Given the description of an element on the screen output the (x, y) to click on. 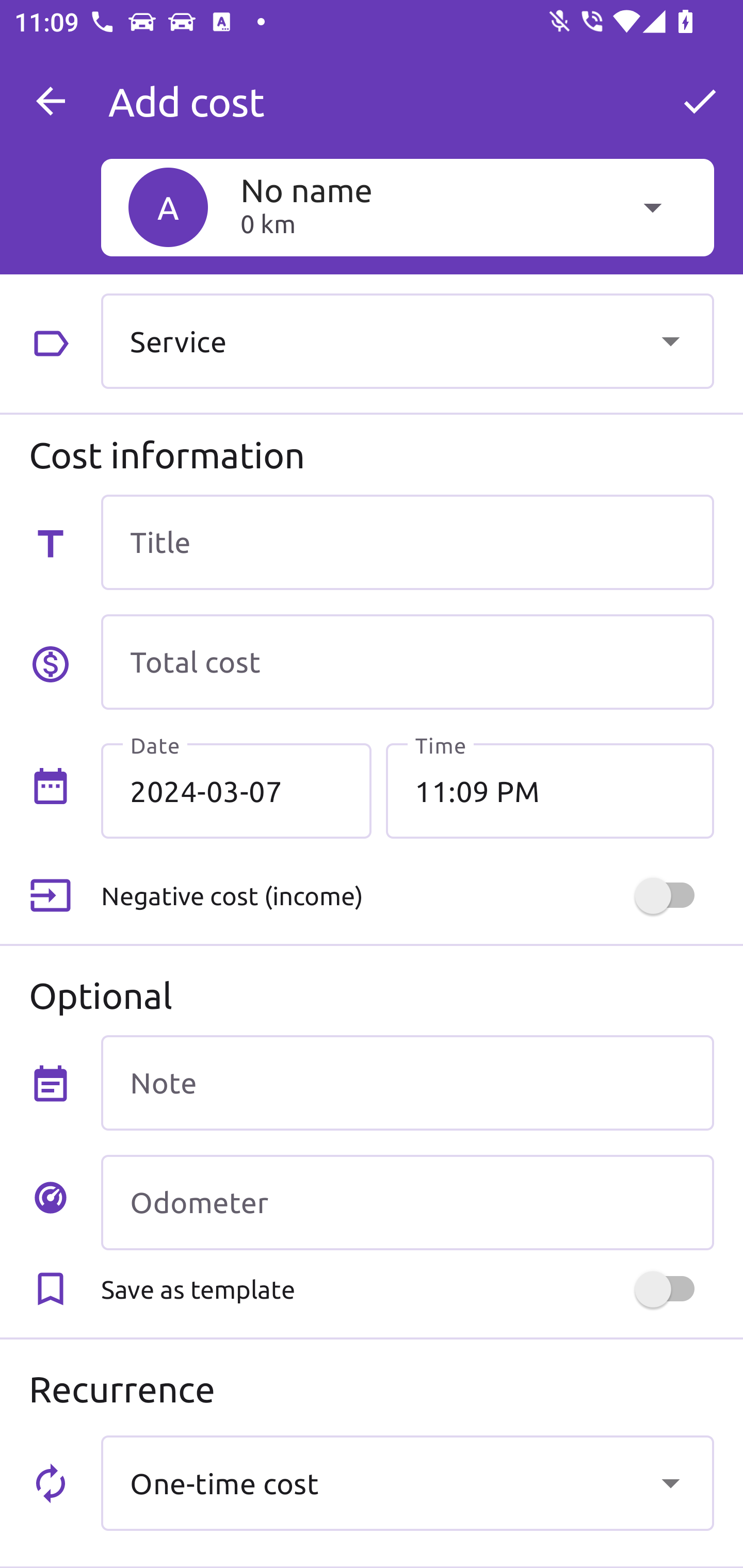
Navigate up (50, 101)
OK (699, 101)
A No name 0 km (407, 206)
Service (407, 340)
Show dropdown menu (670, 340)
Title (407, 541)
Total cost  (407, 662)
2024-03-07 (236, 790)
11:09 PM (549, 790)
Negative cost (income) (407, 895)
Note (407, 1082)
Odometer (407, 1202)
Save as template (407, 1289)
One-time cost (407, 1482)
Show dropdown menu (670, 1482)
